Given the description of an element on the screen output the (x, y) to click on. 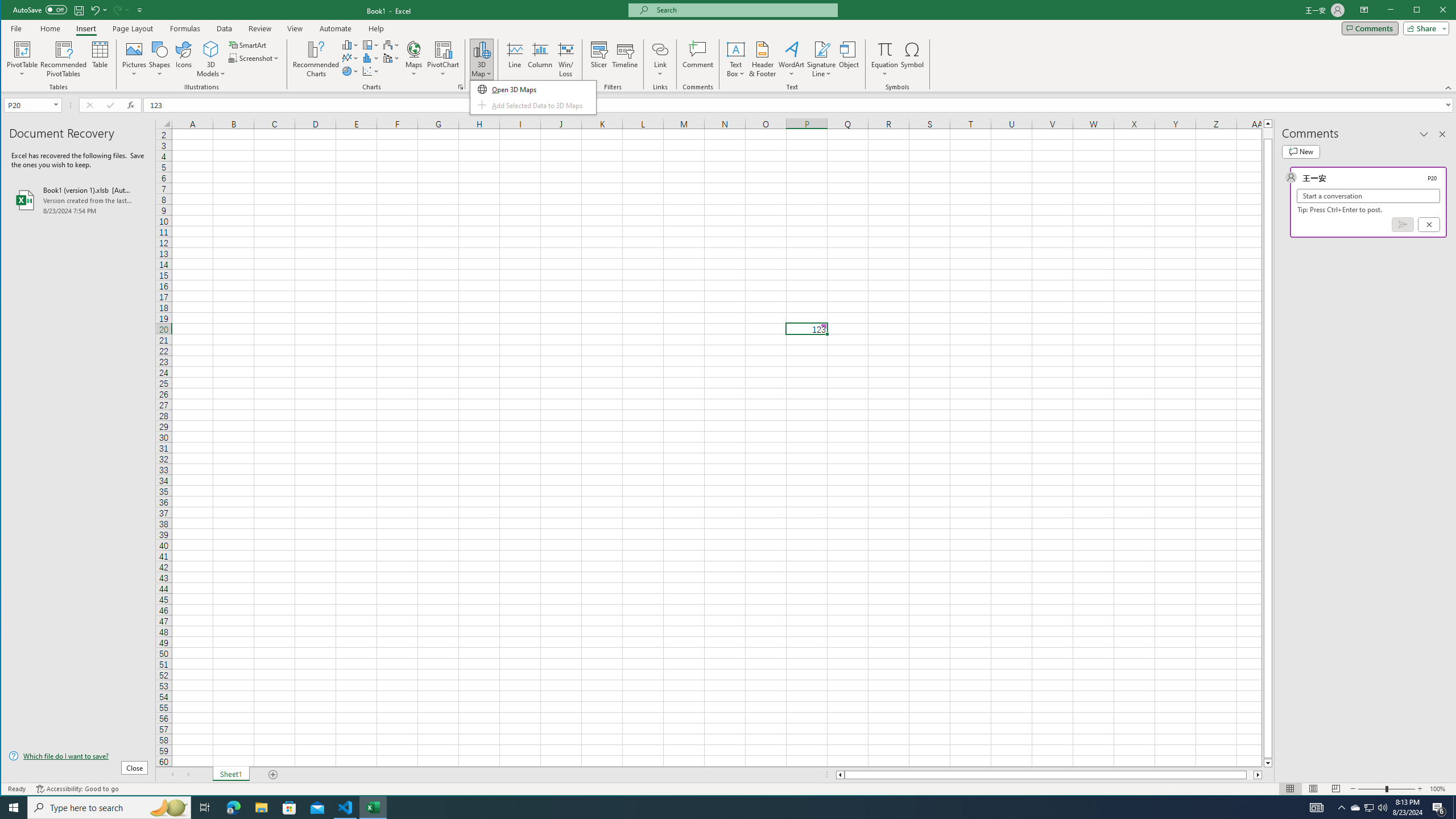
Start (13, 807)
Header & Footer... (762, 59)
Link (659, 59)
Visual Studio Code - 1 running window (1355, 807)
SmartArt... (345, 807)
3D Map (248, 44)
3D Models (481, 59)
